Given the description of an element on the screen output the (x, y) to click on. 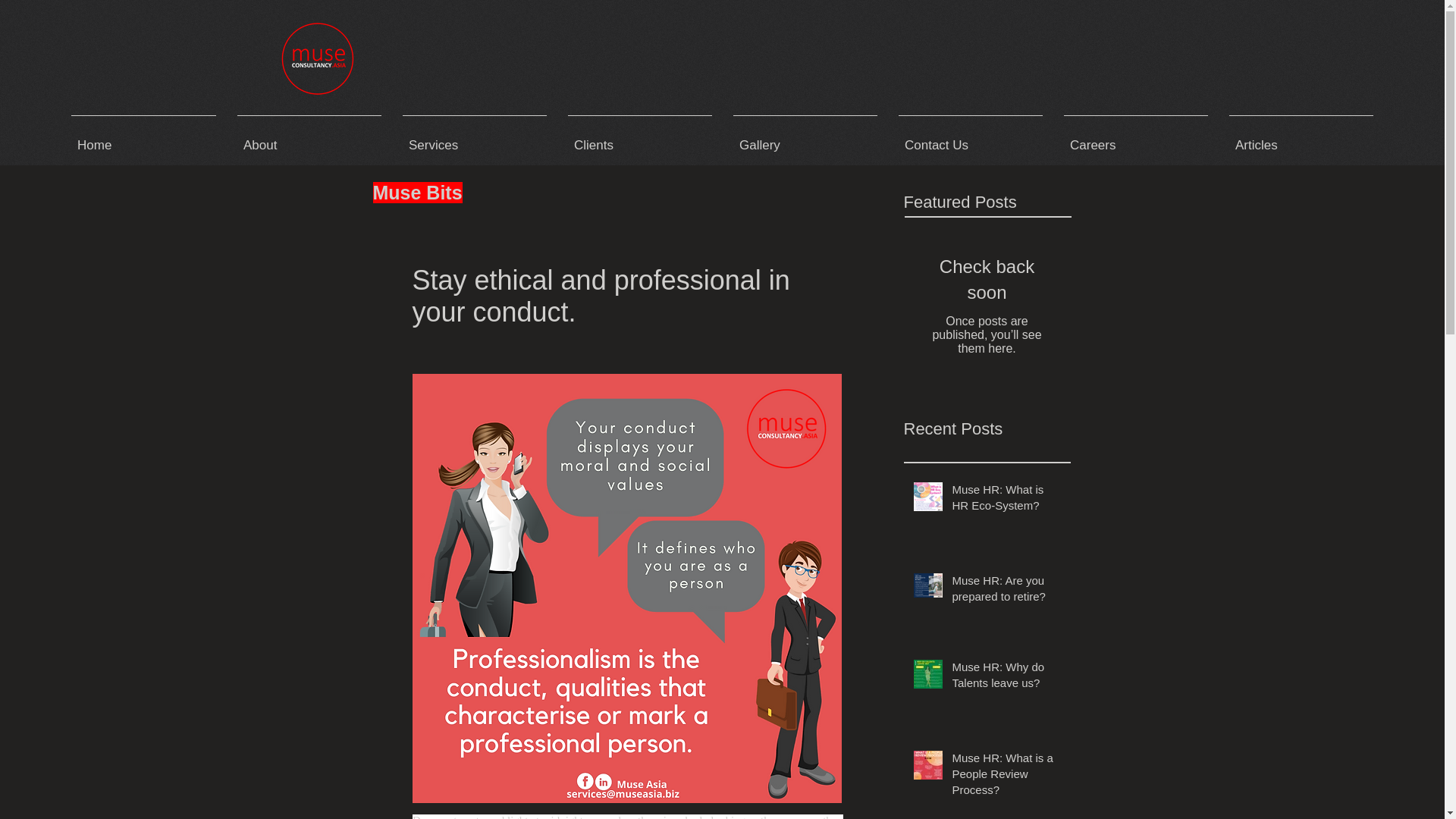
Muse HR: Are you prepared to retire? (1006, 591)
Articles (1301, 138)
Careers (1135, 138)
Services (474, 138)
Muse HR: What is a People Review Process? (1006, 776)
Muse HR: Why do Talents leave us? (1006, 677)
Contact Us (970, 138)
Clients (639, 138)
About (309, 138)
Home (144, 138)
Muse HR: What is HR Eco-System? (1006, 500)
